Given the description of an element on the screen output the (x, y) to click on. 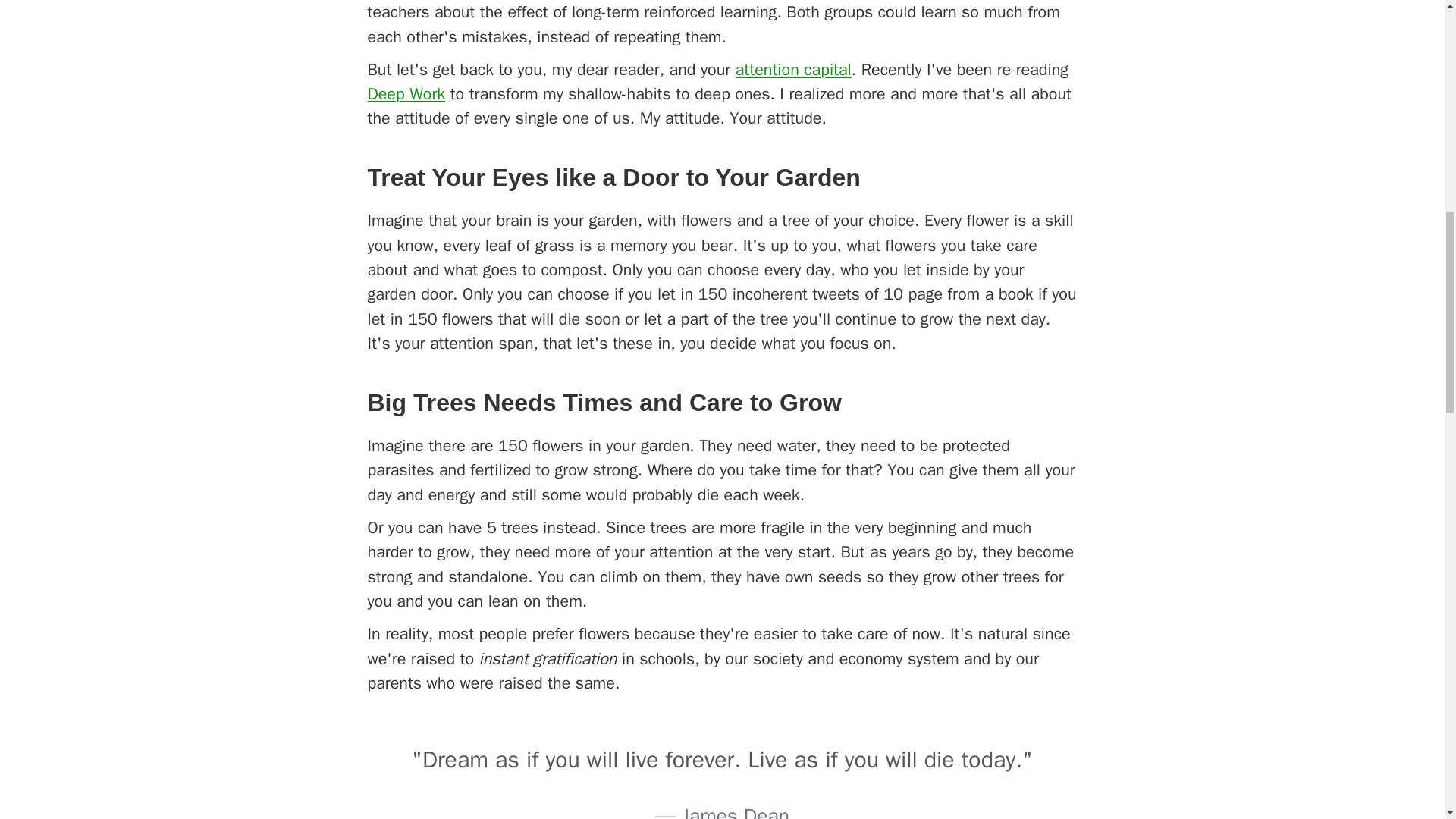
attention capital (793, 68)
Deep Work (405, 93)
